Given the description of an element on the screen output the (x, y) to click on. 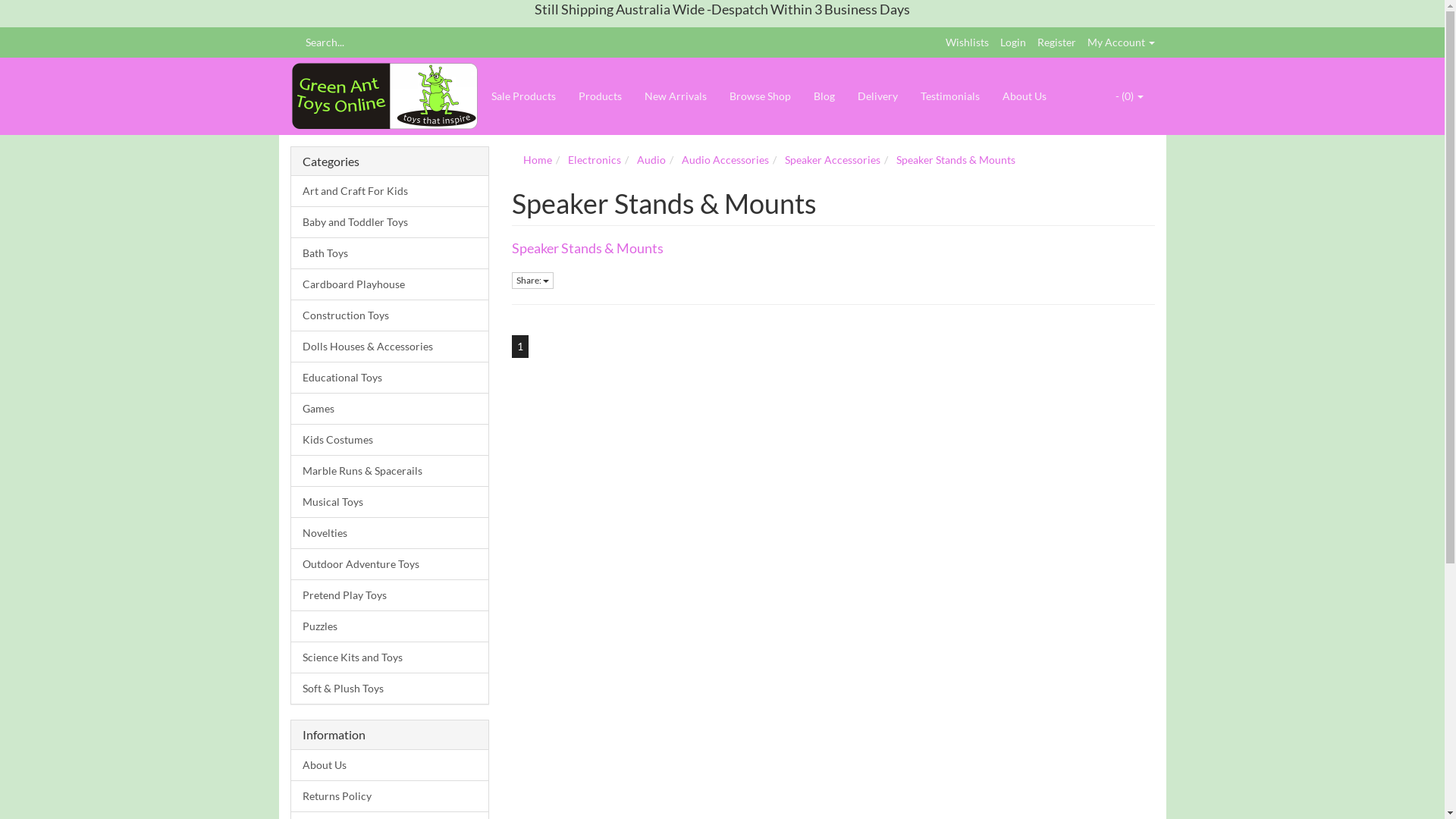
Marble Runs & Spacerails Element type: text (390, 470)
Educational Toys Element type: text (390, 376)
Baby and Toddler Toys Element type: text (390, 221)
Search Element type: text (294, 42)
Science Kits and Toys Element type: text (390, 656)
Audio Element type: text (651, 159)
Speaker Accessories Element type: text (832, 159)
Bath Toys Element type: text (390, 252)
Audio Accessories Element type: text (724, 159)
Novelties Element type: text (390, 532)
Sale Products Element type: text (522, 96)
Art and Craft For Kids Element type: text (390, 190)
Returns Policy Element type: text (390, 795)
Construction Toys Element type: text (390, 315)
Games Element type: text (390, 407)
1 Element type: text (519, 346)
Home Element type: text (537, 159)
About Us Element type: text (1023, 96)
Cardboard Playhouse Element type: text (390, 283)
Wishlists Element type: text (966, 41)
About Us Element type: text (390, 764)
Share: Element type: text (532, 280)
Login Element type: text (1012, 41)
Musical Toys Element type: text (390, 501)
Products Element type: text (600, 96)
Blog Element type: text (824, 96)
- (0) Element type: text (1129, 96)
Speaker Stands & Mounts Element type: text (587, 247)
Dolls Houses & Accessories Element type: text (390, 345)
Electronics Element type: text (594, 159)
Delivery Element type: text (877, 96)
Browse Shop Element type: text (759, 96)
Testimonials Element type: text (949, 96)
Kids Costumes Element type: text (390, 439)
Speaker Stands & Mounts Element type: text (955, 159)
Soft & Plush Toys Element type: text (390, 687)
New Arrivals Element type: text (674, 96)
My Account Element type: text (1120, 41)
Pretend Play Toys Element type: text (390, 594)
Register Element type: text (1056, 41)
Puzzles Element type: text (390, 626)
Outdoor Adventure Toys Element type: text (390, 563)
